Given the description of an element on the screen output the (x, y) to click on. 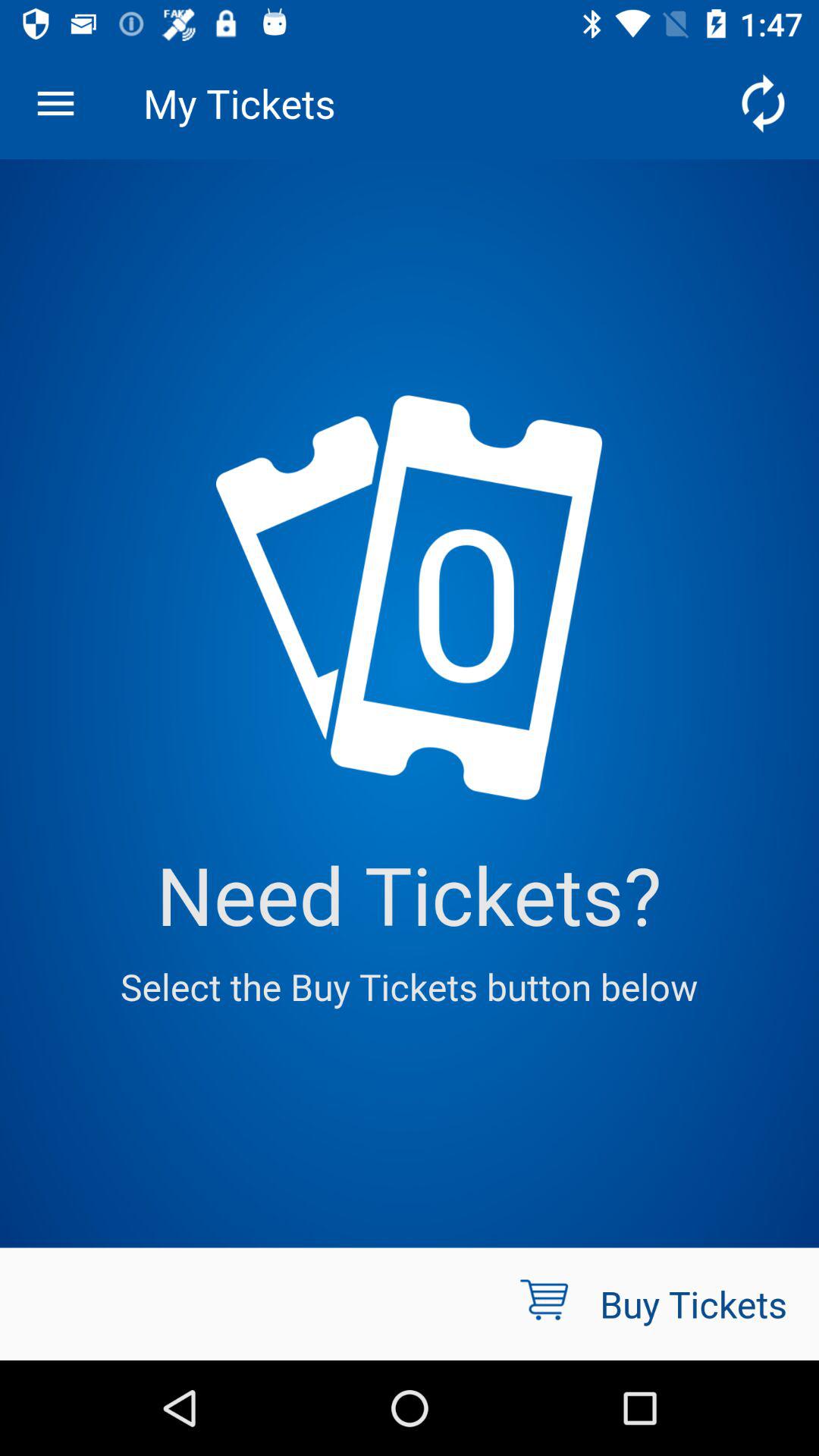
open item to the left of the my tickets (55, 103)
